Given the description of an element on the screen output the (x, y) to click on. 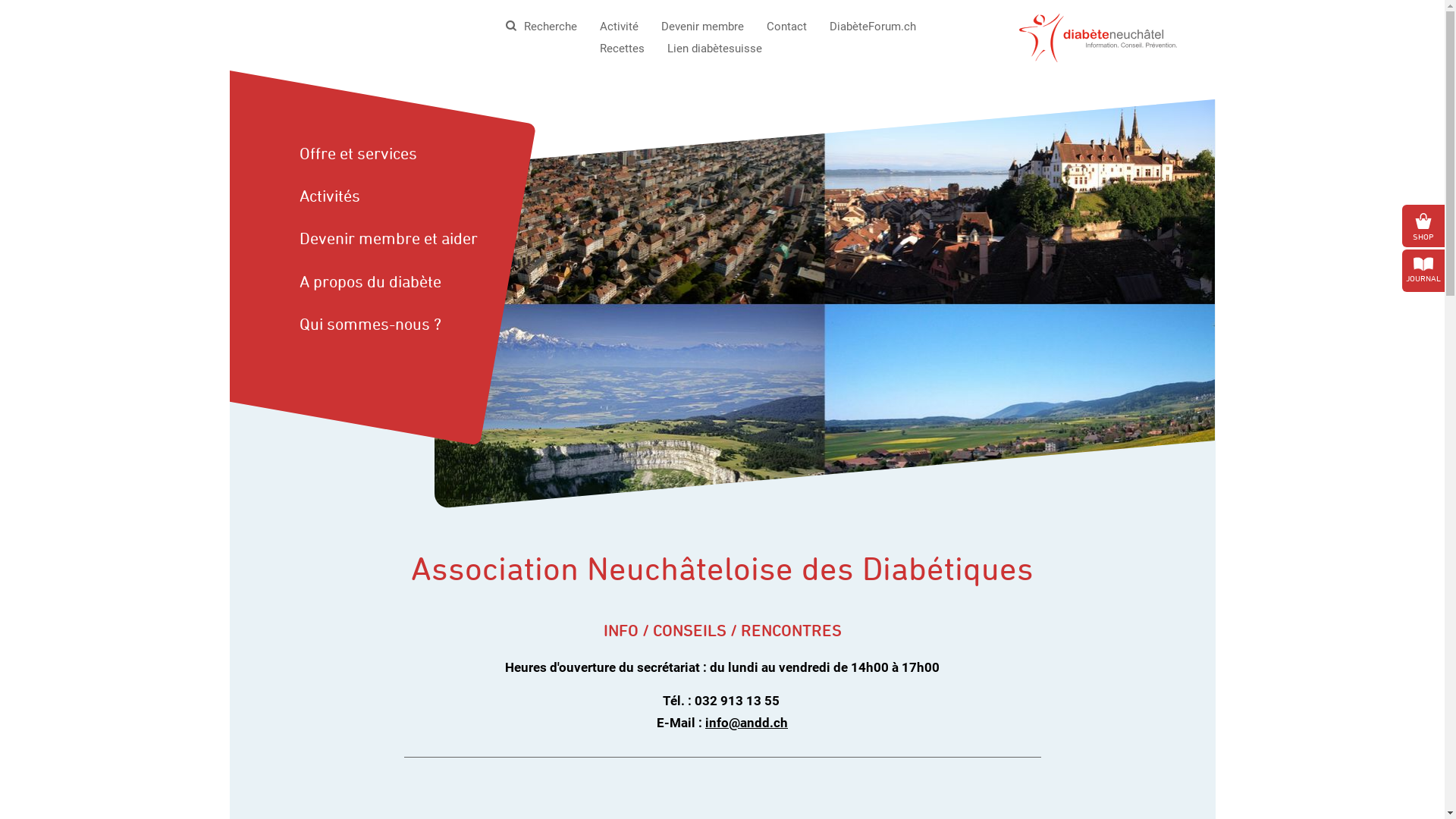
Page d'accueil Element type: hover (1097, 36)
Devenir membre et aider Element type: text (384, 238)
JOURNAL Element type: text (1423, 270)
SHOP Element type: text (1423, 225)
info@andd.ch Element type: text (746, 722)
Qui sommes-nous ? Element type: text (384, 324)
Contact Element type: text (786, 26)
Recherche Element type: text (543, 26)
Recettes Element type: text (621, 48)
Offre et services Element type: text (384, 153)
Devenir membre Element type: text (702, 26)
